Given the description of an element on the screen output the (x, y) to click on. 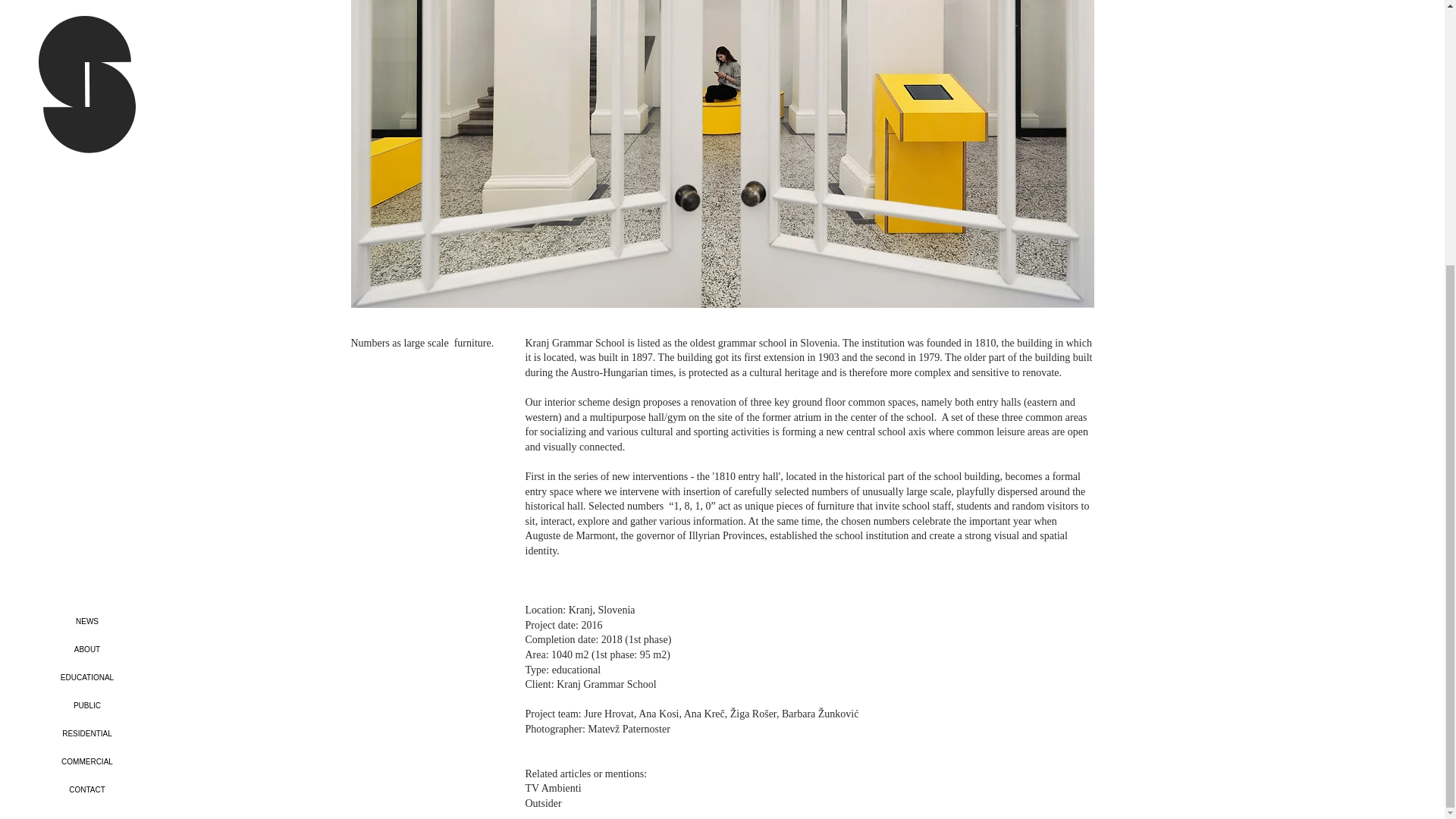
TV Ambienti (552, 787)
ABOUT (86, 265)
RESIDENTIAL (86, 349)
NEWS (86, 237)
COMMERCIAL (86, 377)
EDUCATIONAL (86, 293)
PUBLIC (86, 321)
Outsider (542, 803)
CONTACT (86, 406)
